Given the description of an element on the screen output the (x, y) to click on. 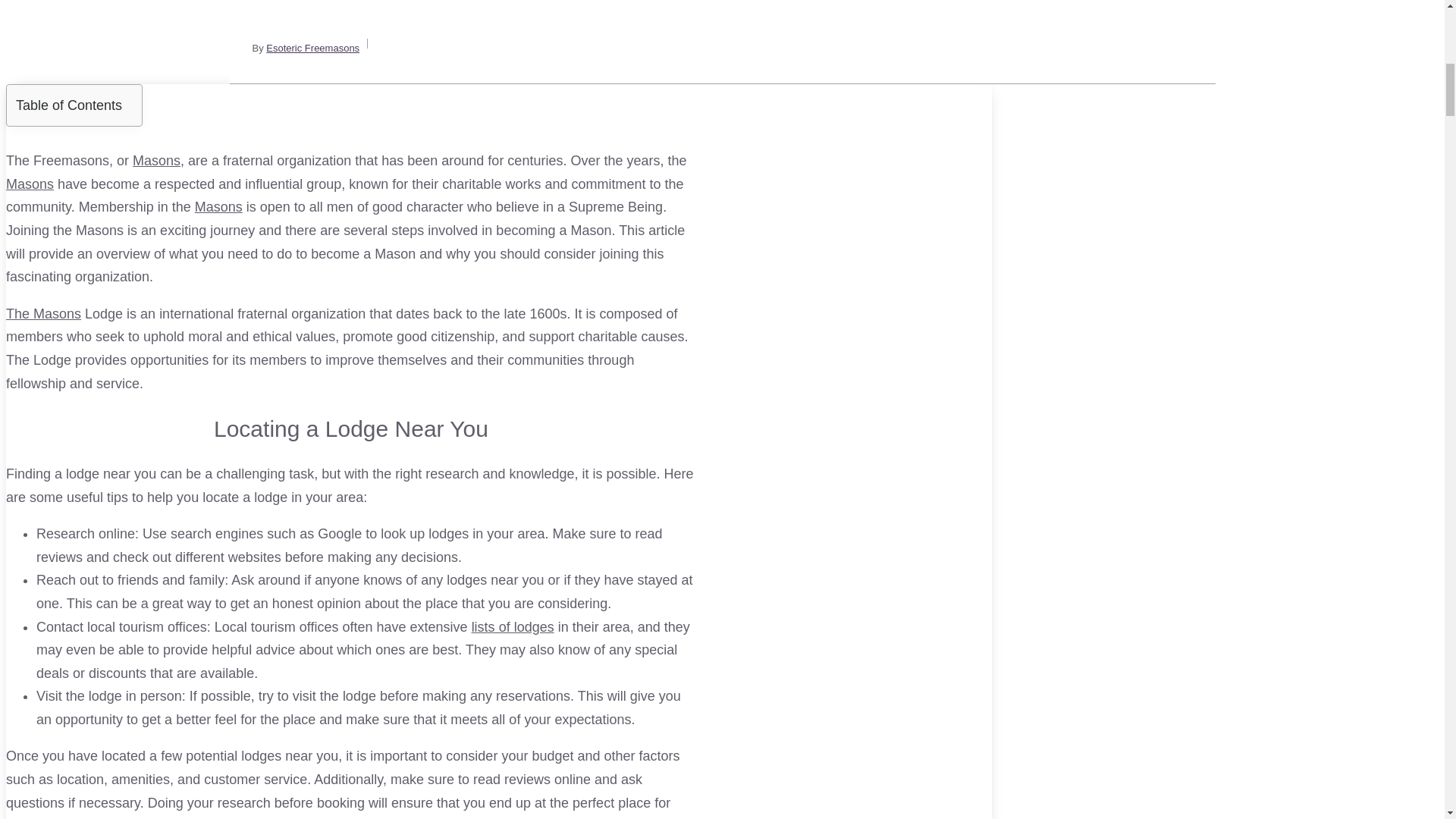
lists of lodges (512, 626)
Masons (29, 183)
Masons (156, 160)
List Of Freemason Lodges (512, 626)
Masons (219, 206)
Scroll back to top (1406, 720)
Esoteric Freemasons (312, 48)
The Masons (43, 313)
